Given the description of an element on the screen output the (x, y) to click on. 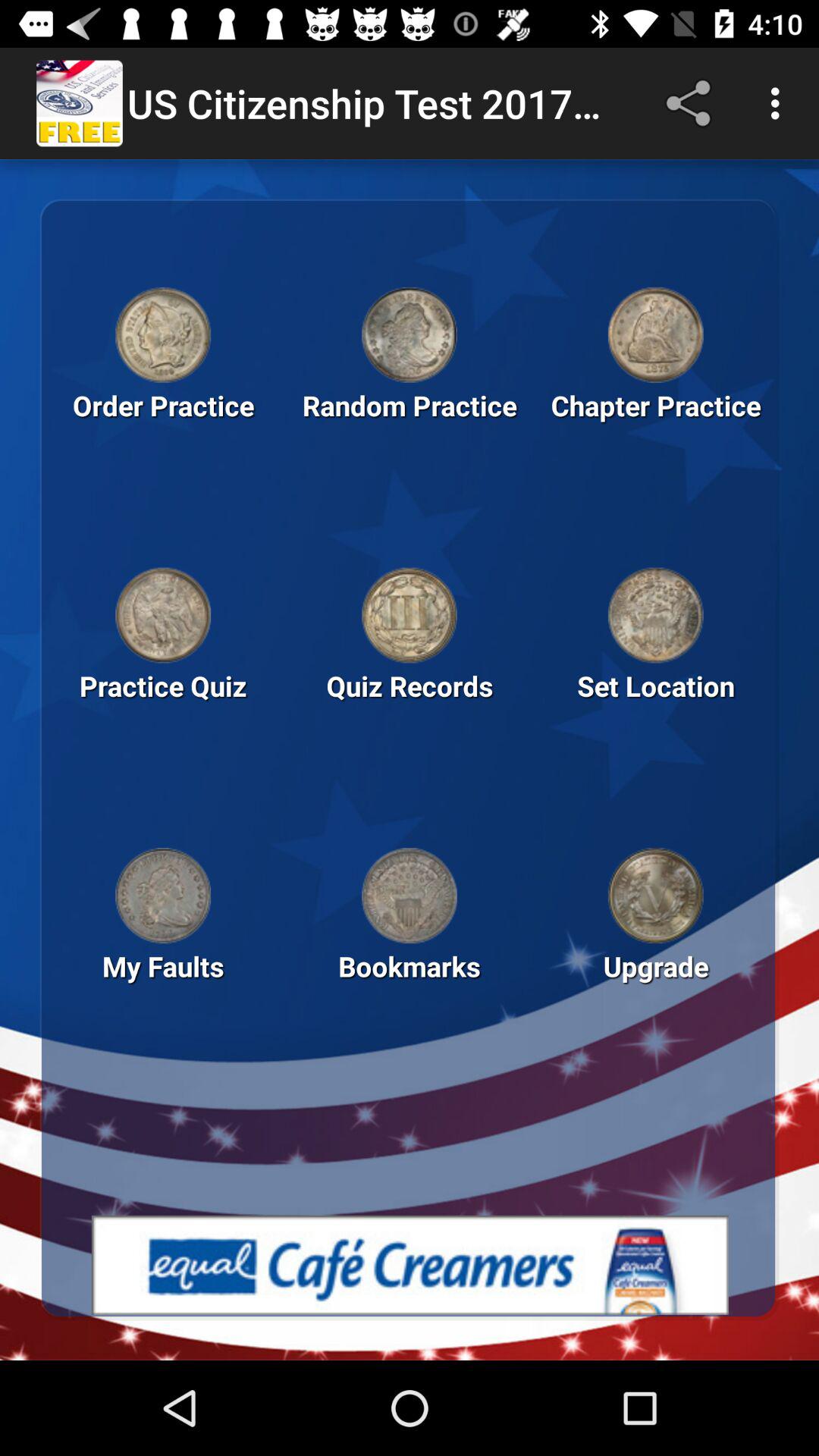
go to quiz records (409, 615)
